Given the description of an element on the screen output the (x, y) to click on. 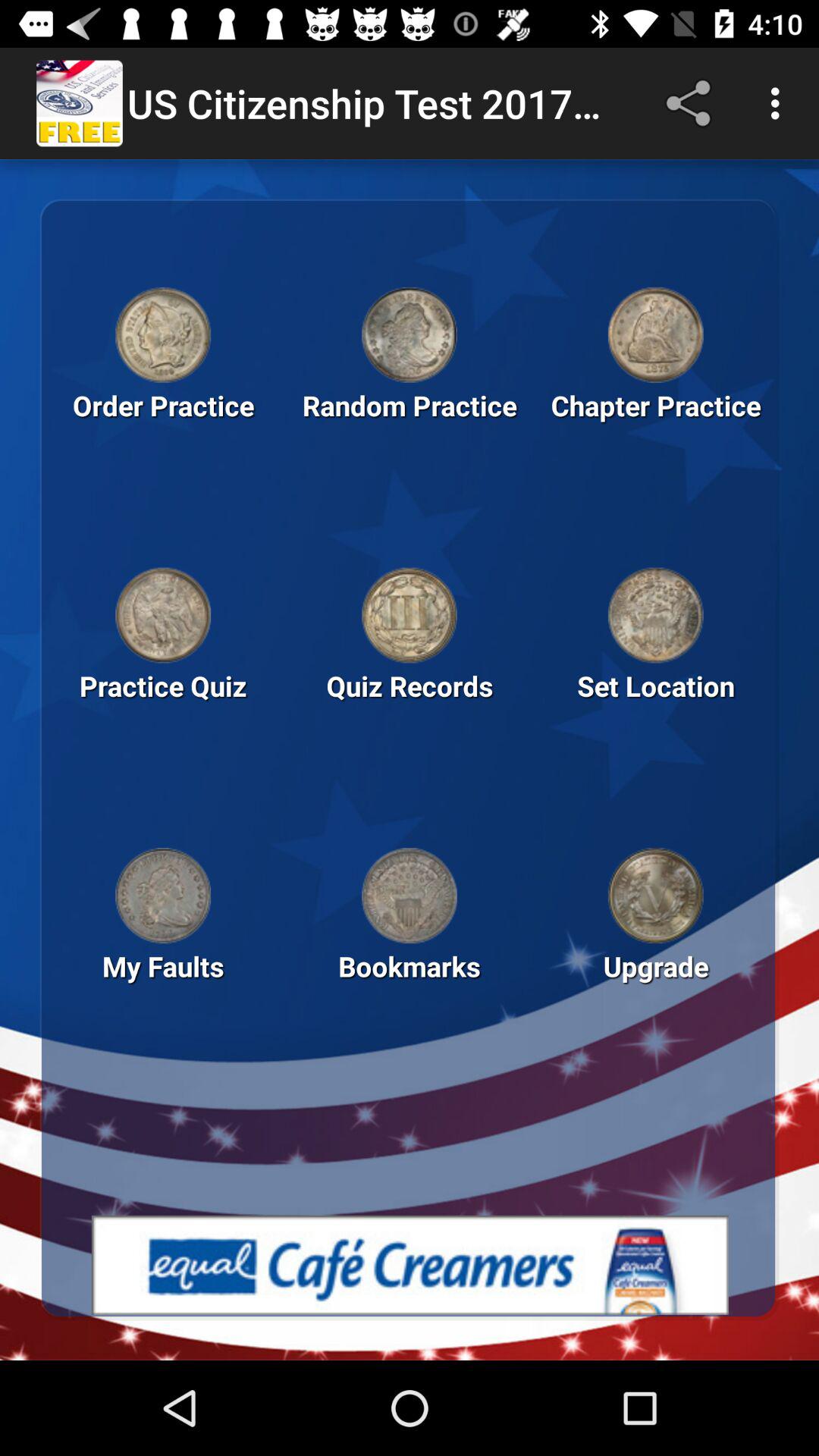
go to quiz records (409, 615)
